Given the description of an element on the screen output the (x, y) to click on. 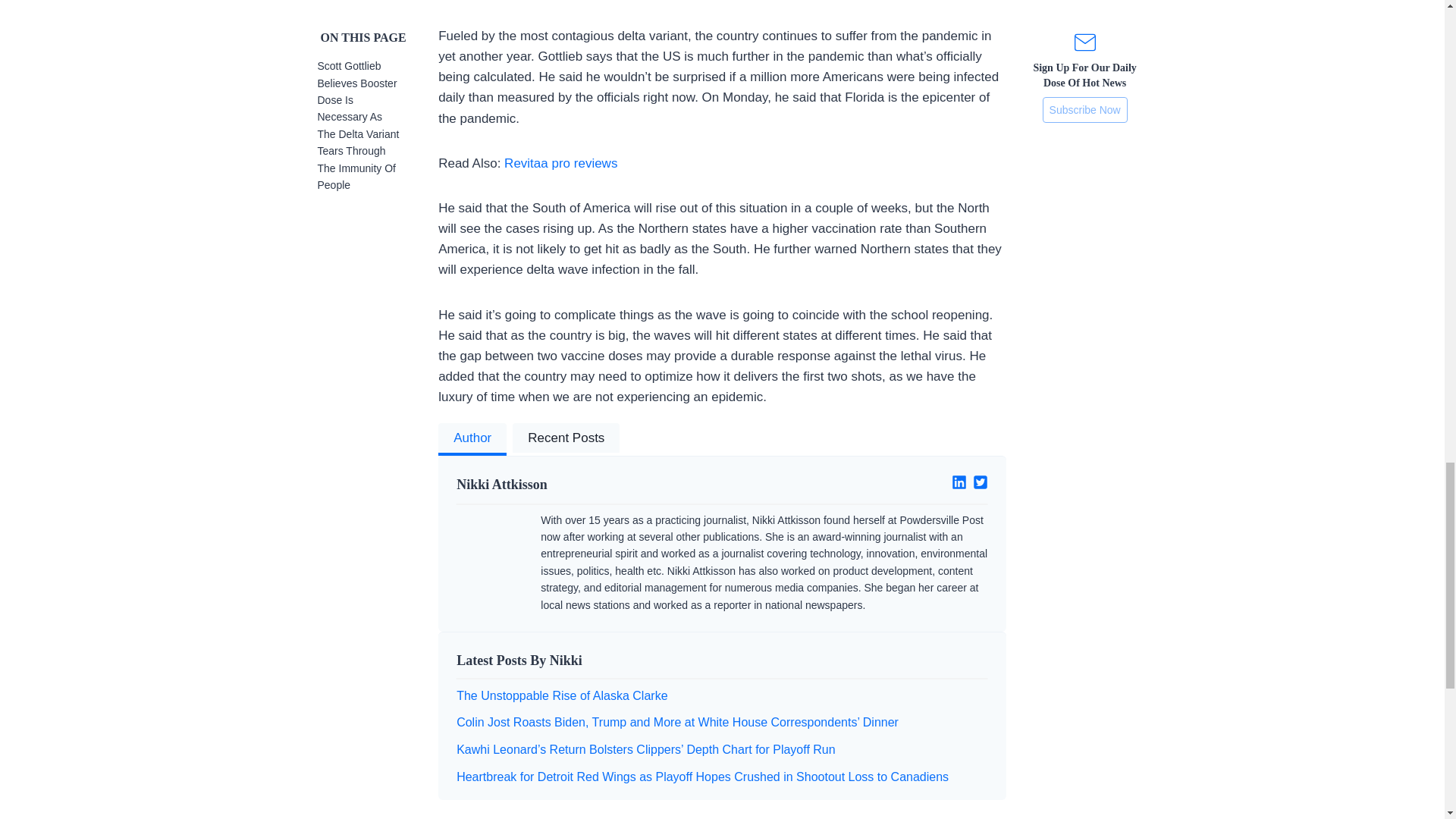
Author (472, 439)
Nikki Attkisson (583, 485)
Recent Posts (566, 439)
The Unstoppable Rise of Alaska Clarke (561, 695)
Revitaa pro reviews (560, 163)
